Given the description of an element on the screen output the (x, y) to click on. 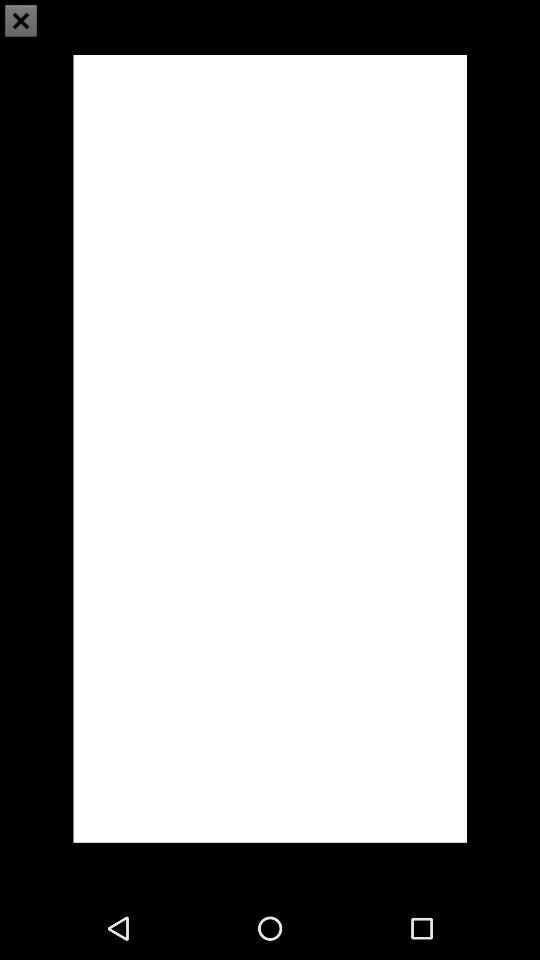
choose item at the top left corner (21, 20)
